Given the description of an element on the screen output the (x, y) to click on. 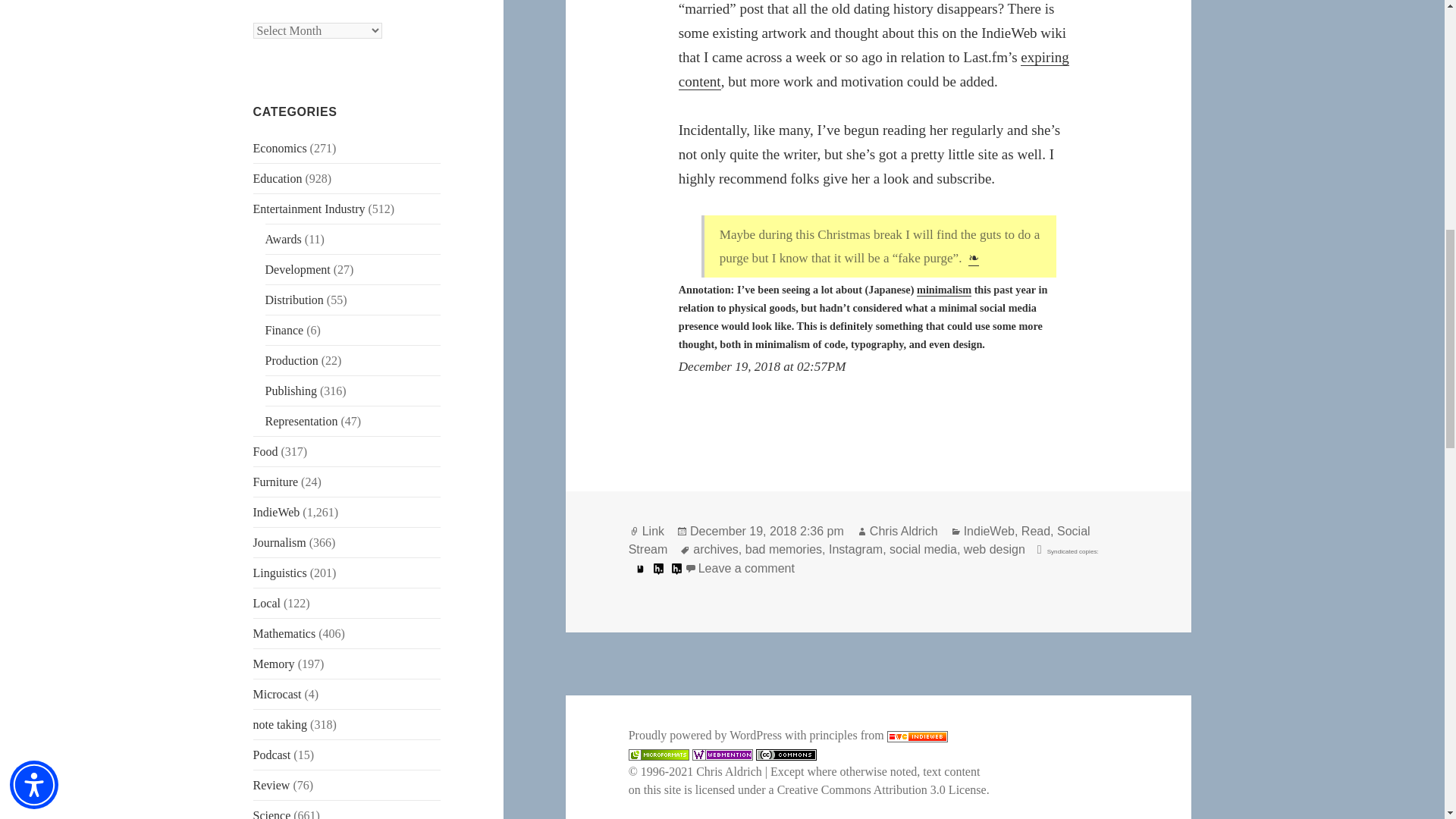
Hypothesis (676, 568)
Hypothesis (657, 568)
